Given the description of an element on the screen output the (x, y) to click on. 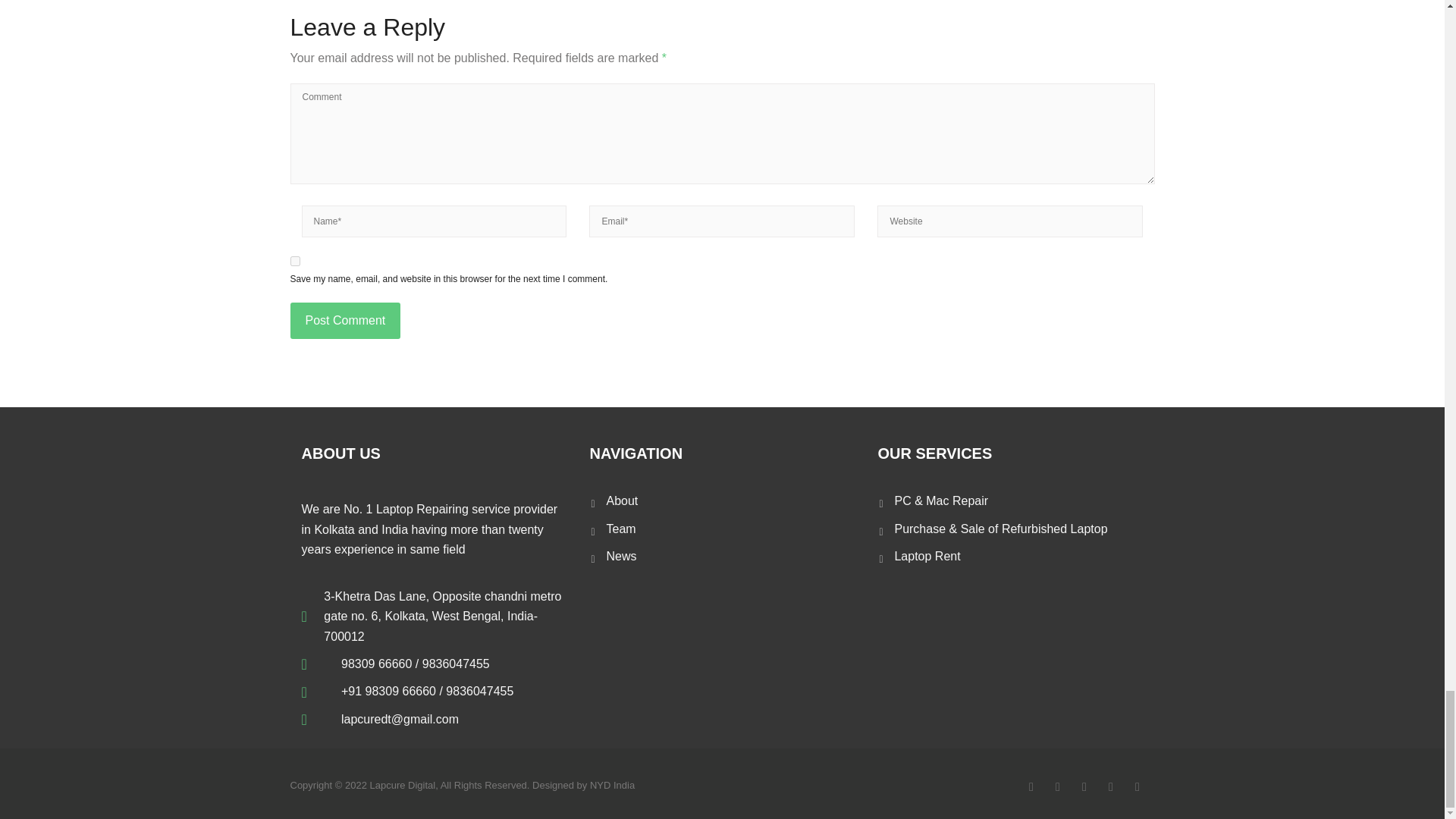
Facebook (1031, 786)
yes (294, 261)
Post Comment (344, 320)
